Given the description of an element on the screen output the (x, y) to click on. 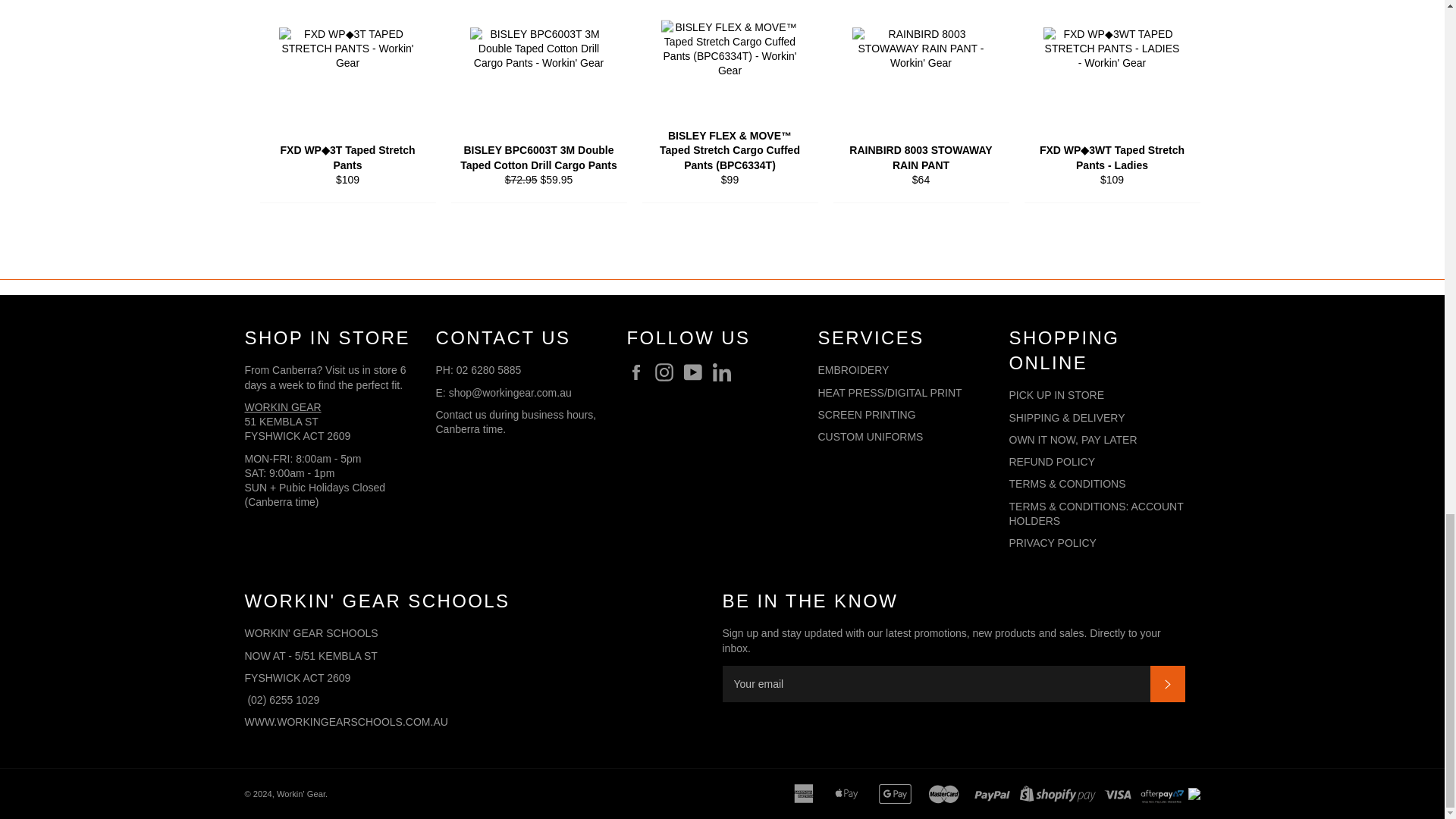
Embroidery Services (852, 369)
Workin' Gear on Facebook (639, 372)
Embroidery Services (888, 392)
Embroidery Services (865, 414)
Call via Hangouts (282, 699)
tel:0262805885 (489, 369)
Workin' Gear on Linkeidn (725, 372)
Workin' Gear on YouTube (697, 372)
Workin' Gear on Instagram (668, 372)
Custom Uniforms (869, 436)
